Given the description of an element on the screen output the (x, y) to click on. 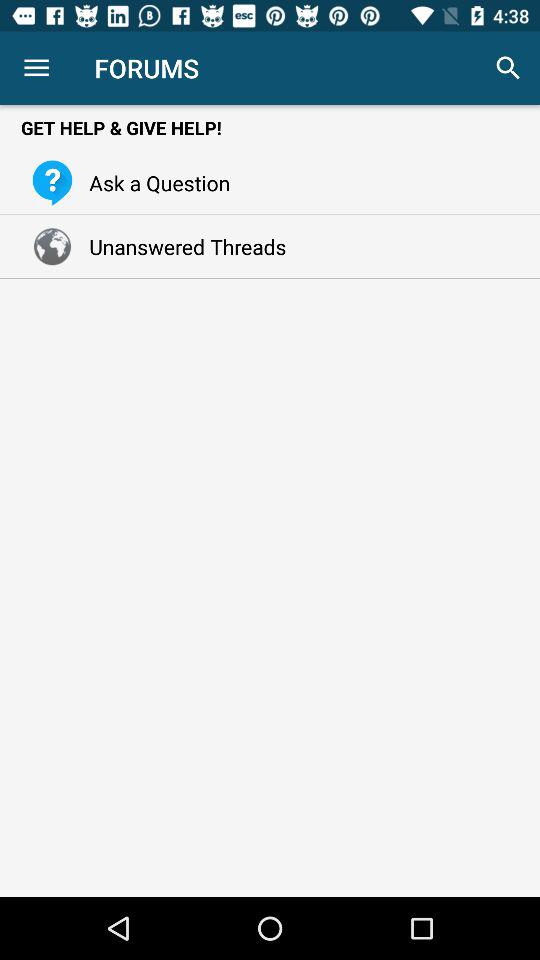
scroll until unanswered threads (182, 246)
